Given the description of an element on the screen output the (x, y) to click on. 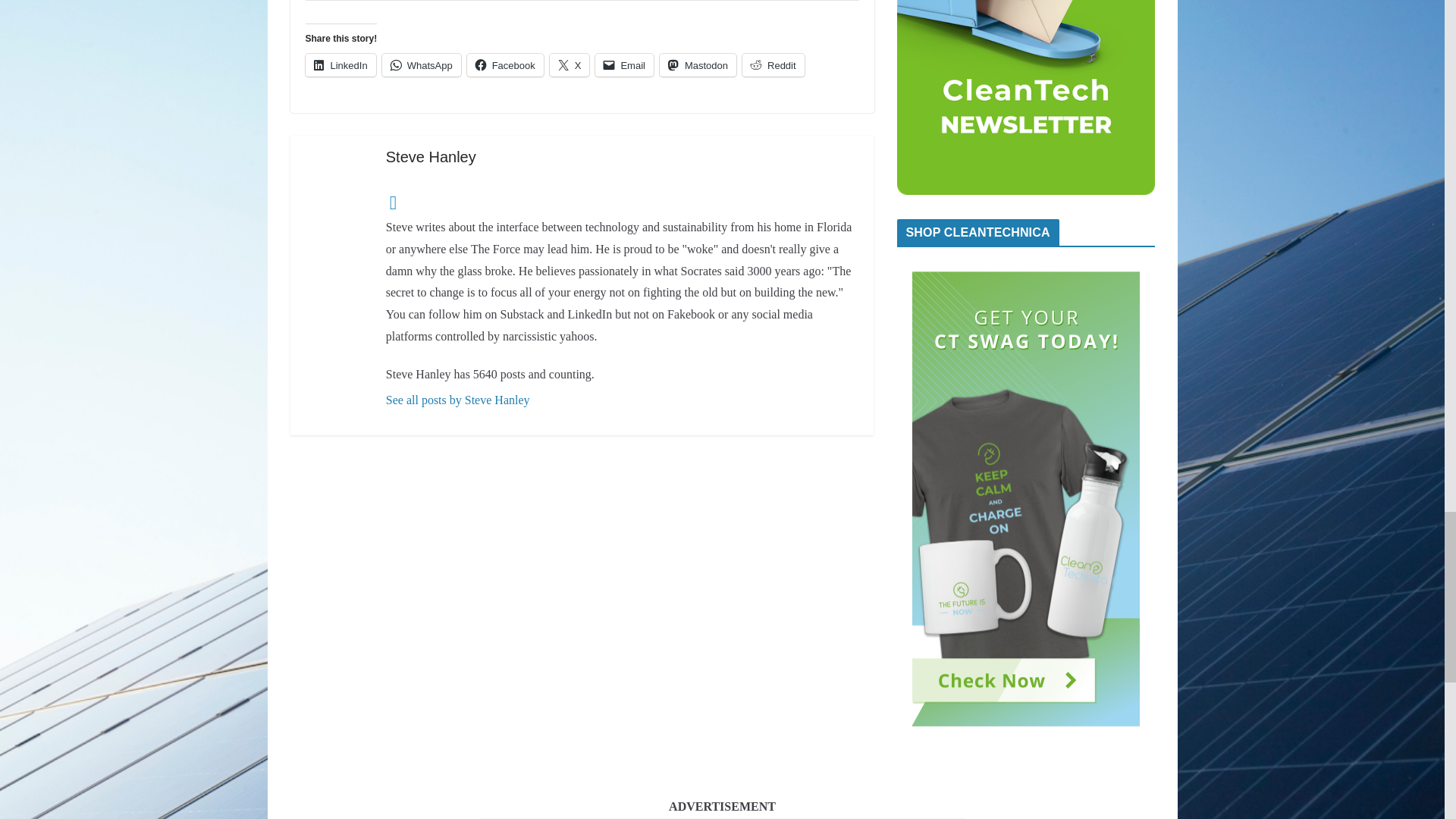
Click to share on WhatsApp (421, 65)
Click to share on X (569, 65)
Click to share on Facebook (505, 65)
Click to share on Mastodon (697, 65)
Click to email a link to a friend (624, 65)
Click to share on Reddit (773, 65)
Click to share on LinkedIn (339, 65)
